Given the description of an element on the screen output the (x, y) to click on. 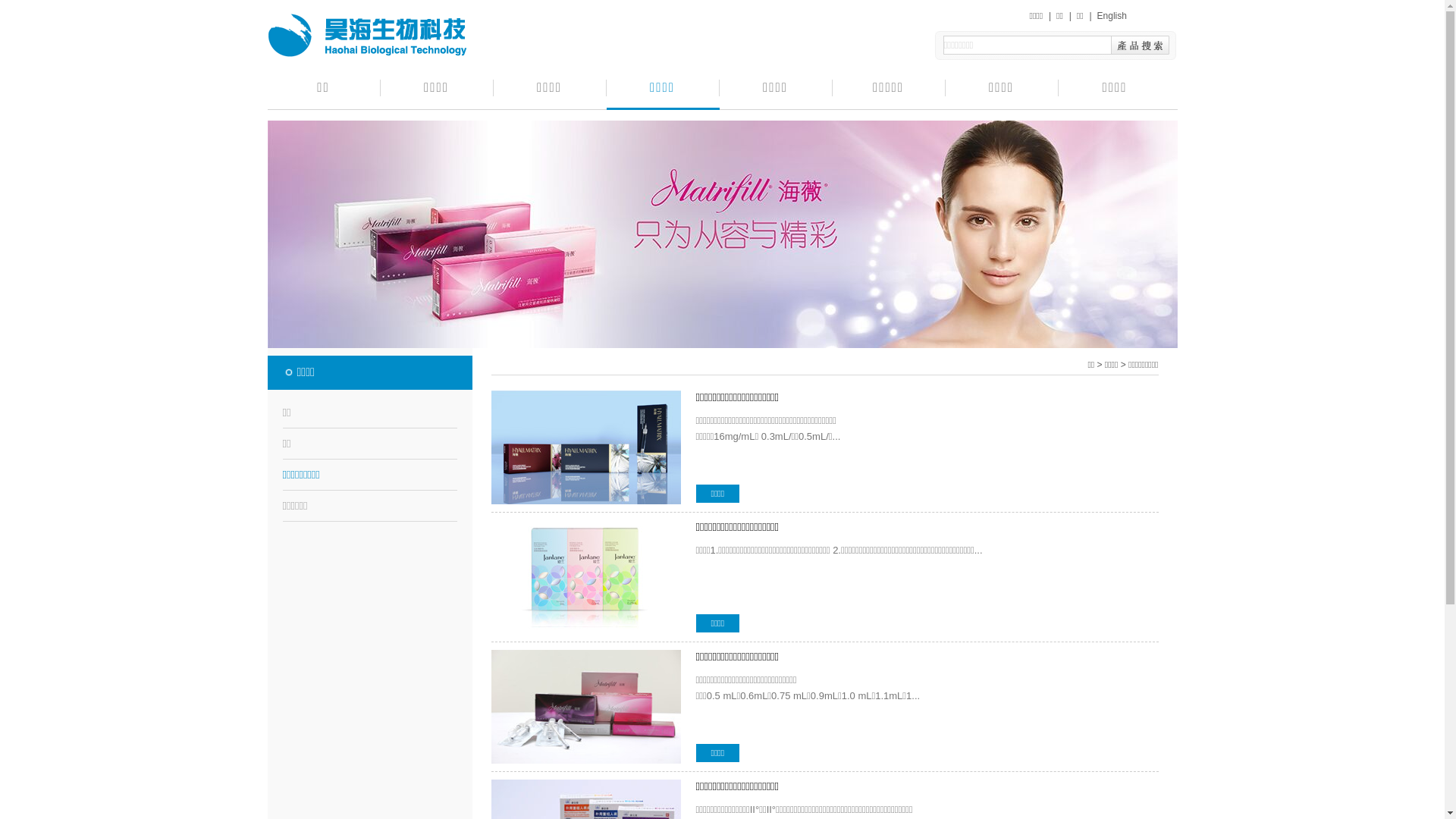
English Element type: text (1111, 15)
